Given the description of an element on the screen output the (x, y) to click on. 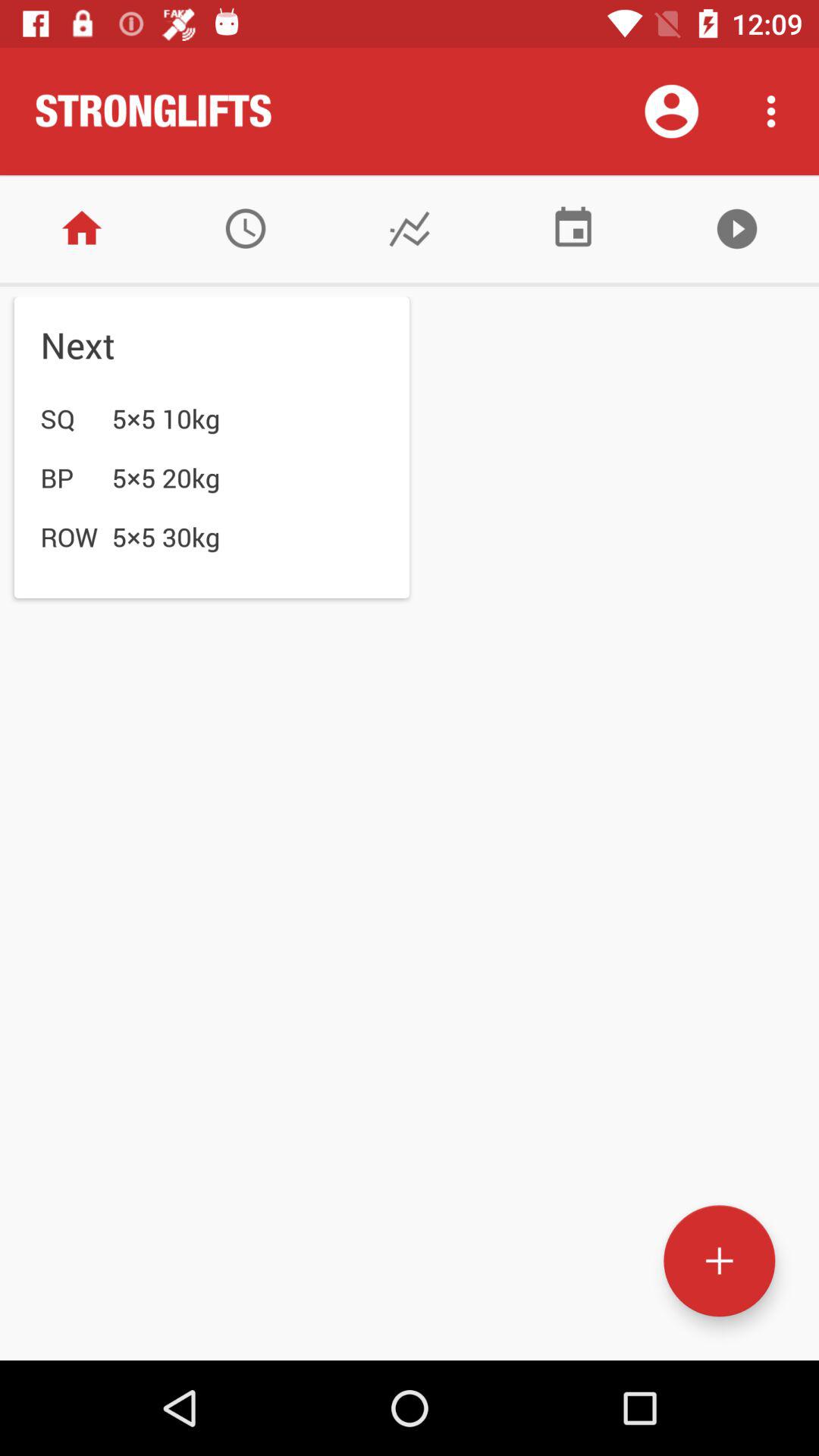
open new page (719, 1260)
